Given the description of an element on the screen output the (x, y) to click on. 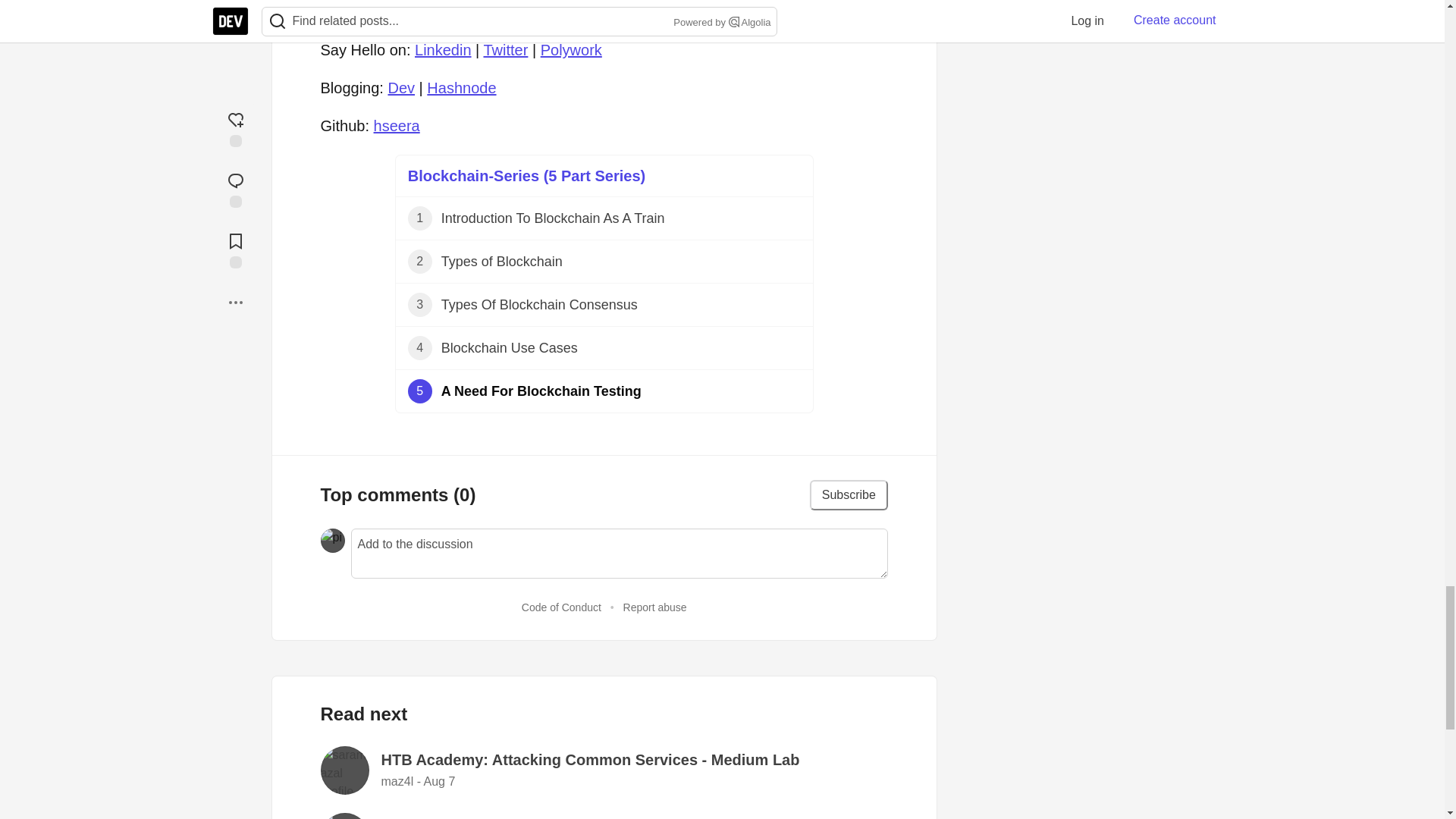
Published Sep 19 '21 (604, 391)
Published Aug 9 '21 (604, 218)
Published Aug 16 '21 (604, 261)
Published Aug 23 '21 (604, 304)
Published Sep 13 '21 (604, 348)
